Given the description of an element on the screen output the (x, y) to click on. 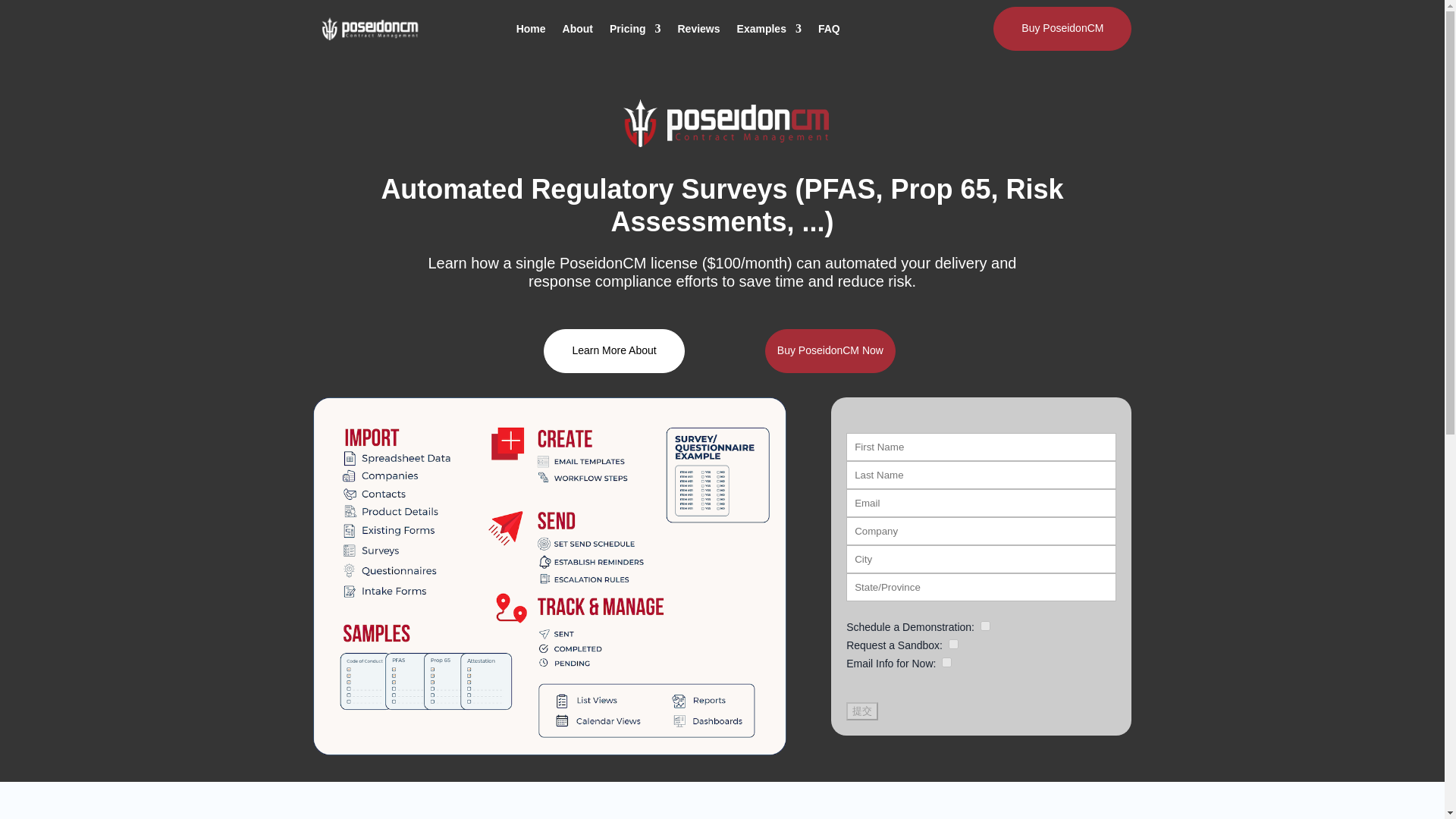
1 (984, 625)
Buy PoseidonCM (1061, 28)
Buy PoseidonCM Now (830, 351)
Learn More About (613, 351)
Examples (769, 28)
poseidoncm-logo-white (722, 122)
1 (947, 662)
1 (953, 644)
